Given the description of an element on the screen output the (x, y) to click on. 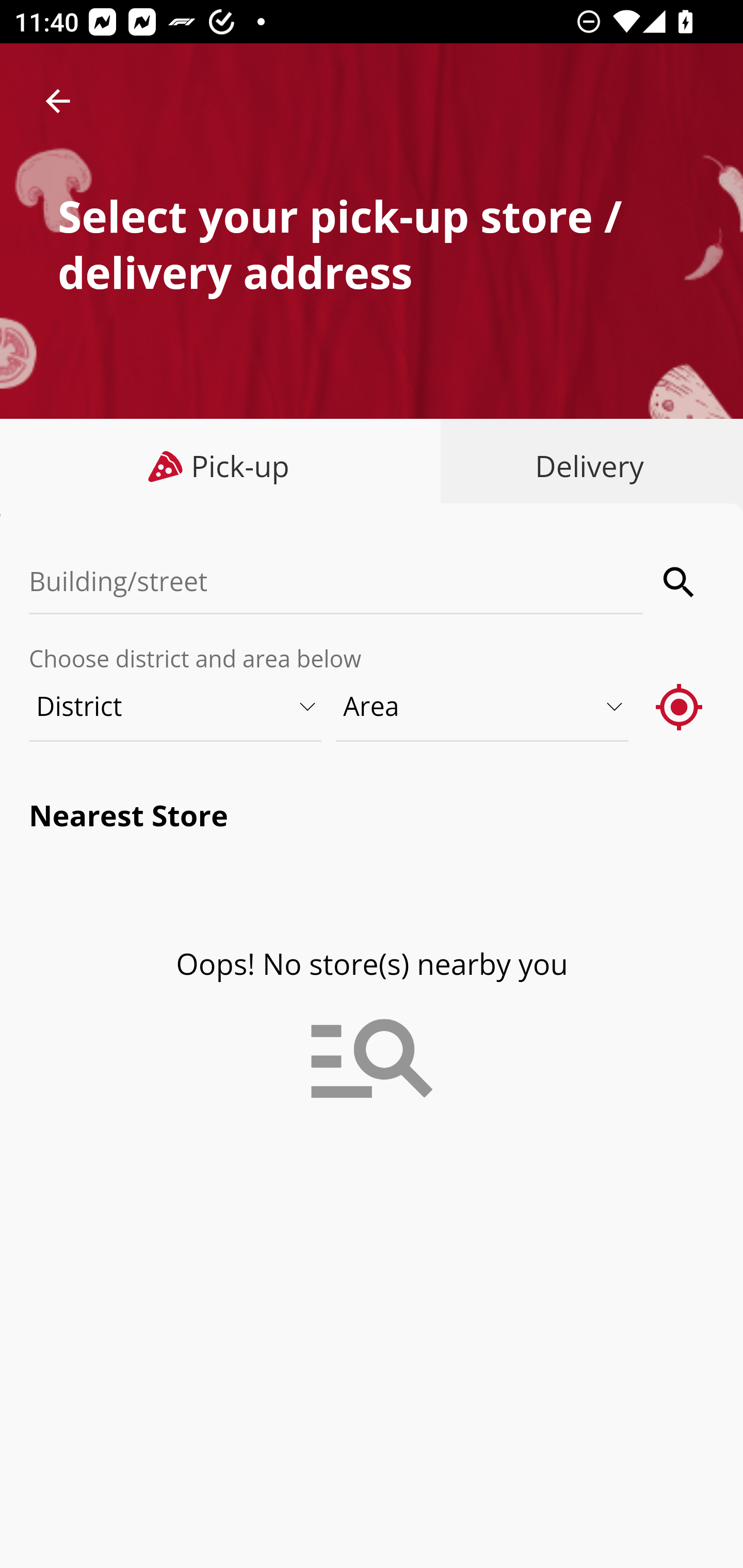
arrow_back (58, 100)
prev next Pick-up Delivery (371, 467)
Delivery (585, 466)
search (679, 582)
gps_fixed (679, 706)
District (175, 706)
Area (482, 706)
